Given the description of an element on the screen output the (x, y) to click on. 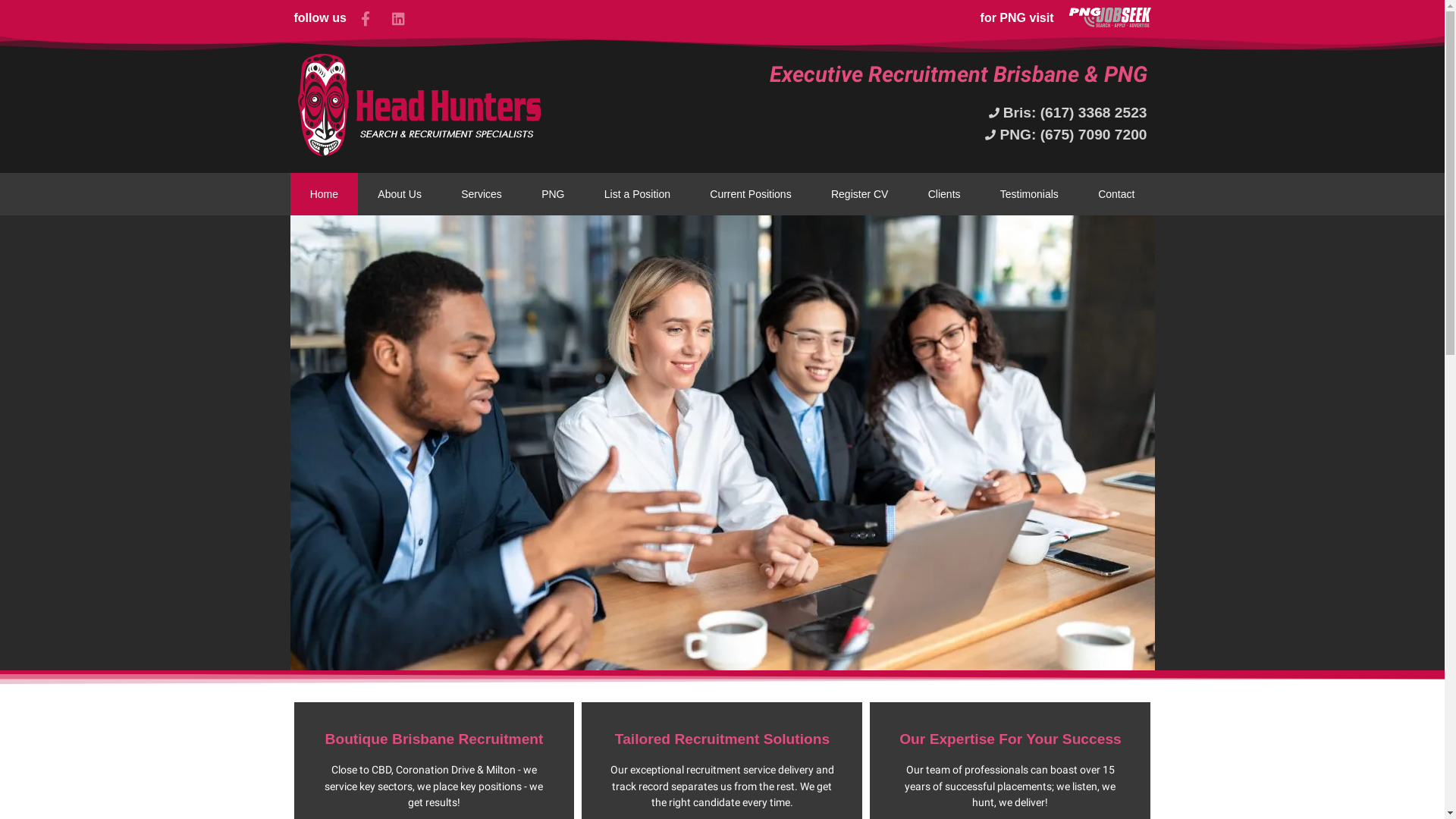
About Us Element type: text (399, 193)
for PNG visit Element type: text (1017, 17)
Testimonials Element type: text (1029, 193)
Clients Element type: text (944, 193)
List a Position Element type: text (637, 193)
PNG Element type: text (552, 193)
Current Positions Element type: text (750, 193)
Contact Element type: text (1116, 193)
Services Element type: text (481, 193)
Home Element type: text (323, 193)
Register CV Element type: text (859, 193)
